Given the description of an element on the screen output the (x, y) to click on. 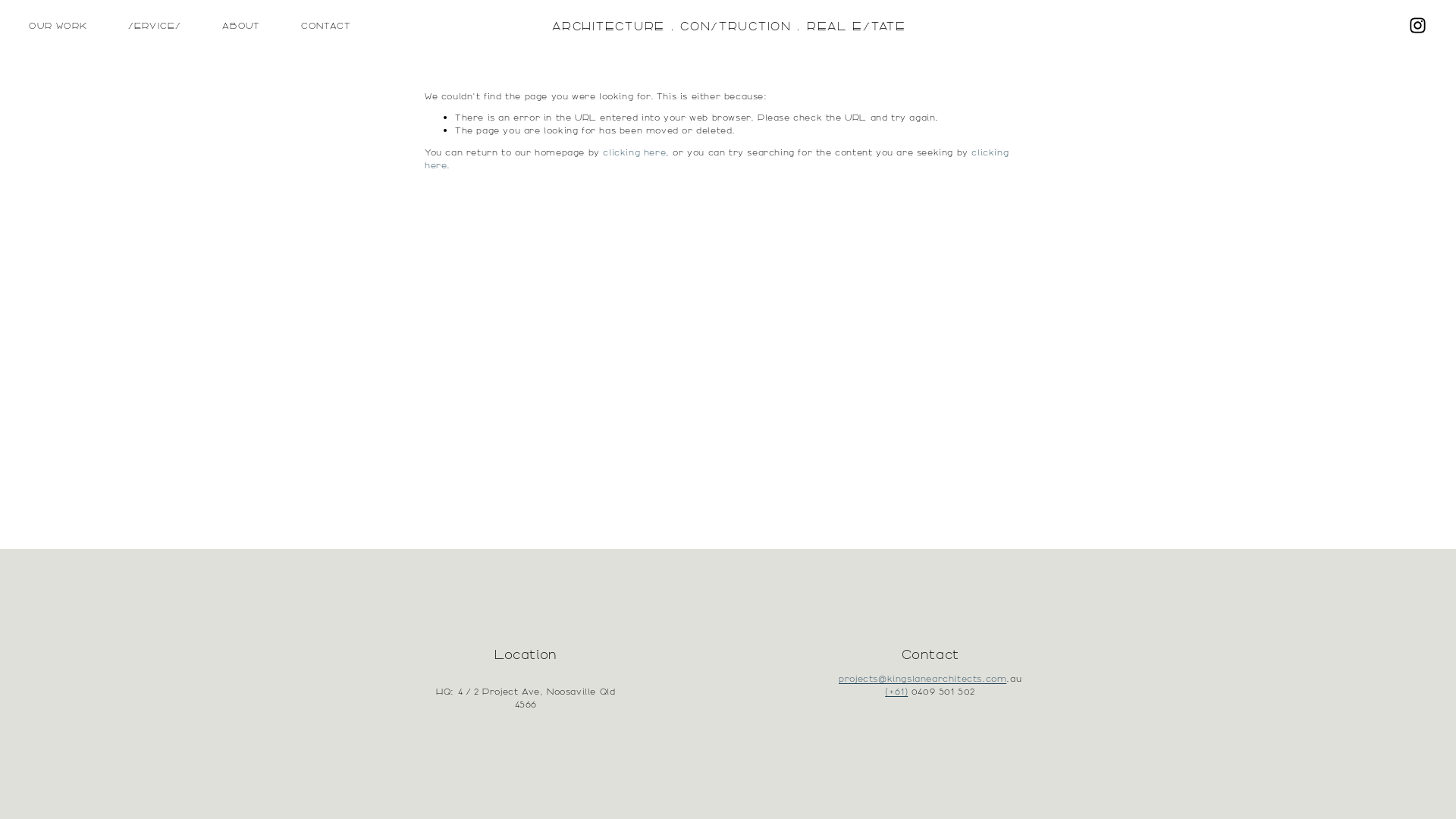
ABOUT Element type: text (241, 25)
(+61) Element type: text (895, 690)
OUR WORK Element type: text (57, 25)
ARCHITECTURE . CONSTRUCTION . REAL ESTATE Element type: text (728, 25)
clicking here Element type: text (633, 151)
projects@kingslanearchitects.com Element type: text (922, 677)
SERVICES Element type: text (155, 25)
CONTACT Element type: text (326, 25)
clicking here Element type: text (716, 157)
